Given the description of an element on the screen output the (x, y) to click on. 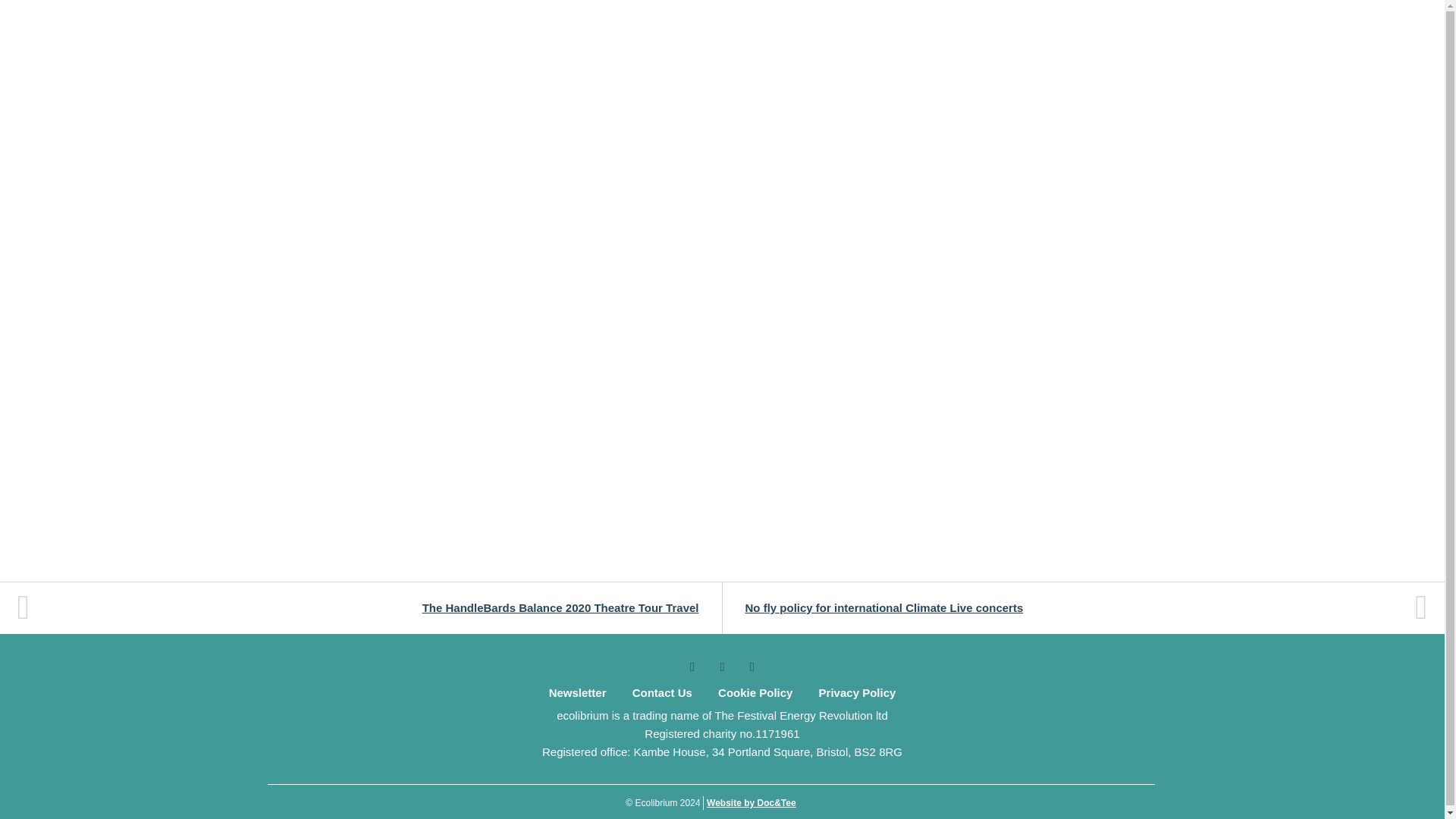
No fly policy for international Climate Live concerts (1074, 607)
Privacy Policy (857, 692)
The HandleBards Balance 2020 Theatre Tour Travel (368, 607)
Newsletter (577, 692)
Cookie Policy (754, 692)
Contact Us (662, 692)
